Given the description of an element on the screen output the (x, y) to click on. 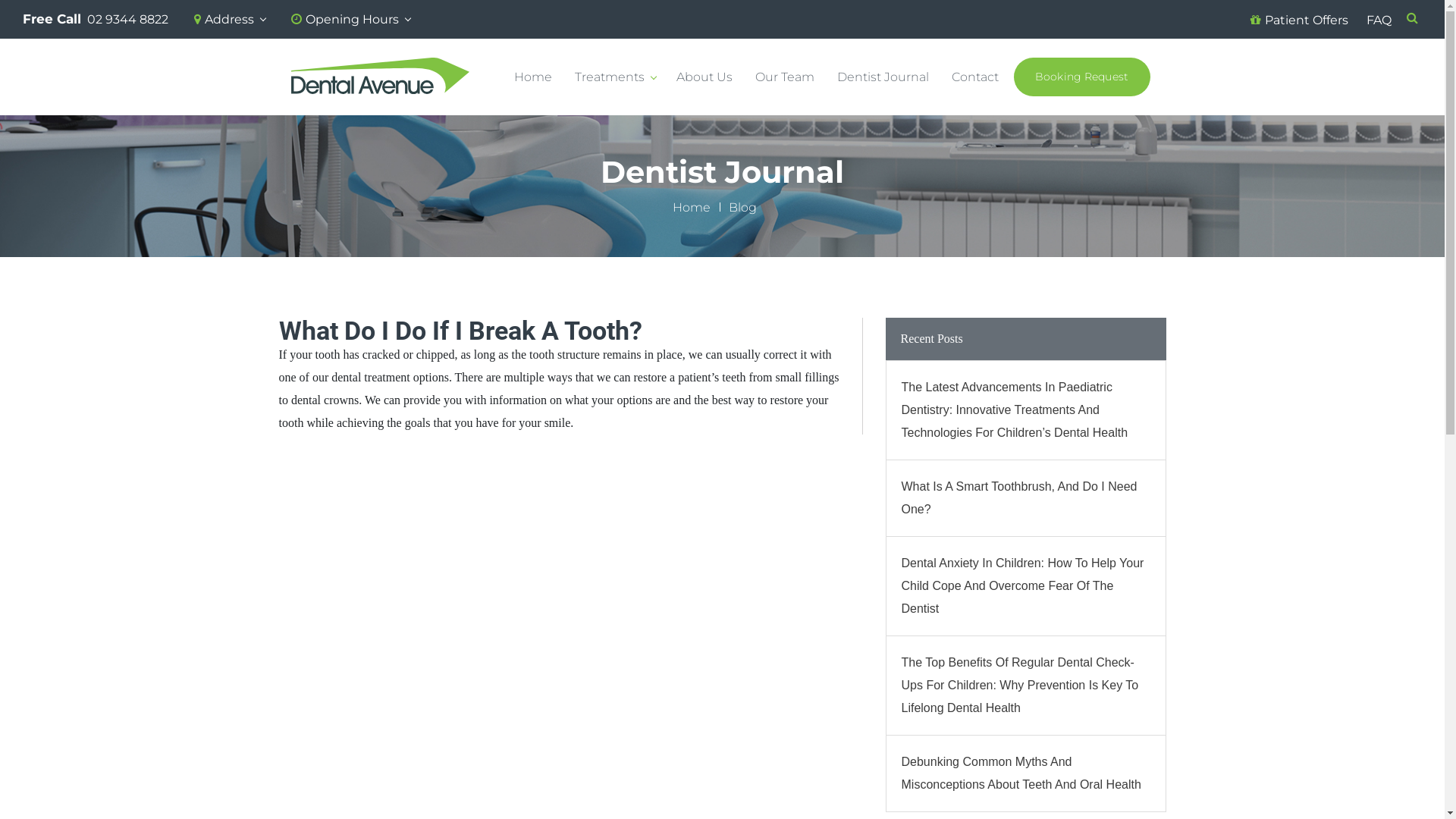
Parramatta Dental Avenue Element type: hover (380, 76)
Blog Element type: text (742, 207)
Booking Request Element type: text (1081, 76)
Home Element type: text (532, 76)
Address Element type: text (229, 23)
Treatments Element type: text (614, 76)
About Us Element type: text (704, 76)
Opening Hours Element type: text (350, 23)
FAQ Element type: text (1378, 20)
What Is A Smart Toothbrush, And Do I Need One? Element type: text (1024, 498)
Patient Offers Element type: text (1298, 20)
Our Team Element type: text (784, 76)
Dentist Journal Element type: text (882, 76)
Contact Element type: text (974, 76)
02 9344 8822 Element type: text (127, 23)
Home Element type: text (691, 207)
